Given the description of an element on the screen output the (x, y) to click on. 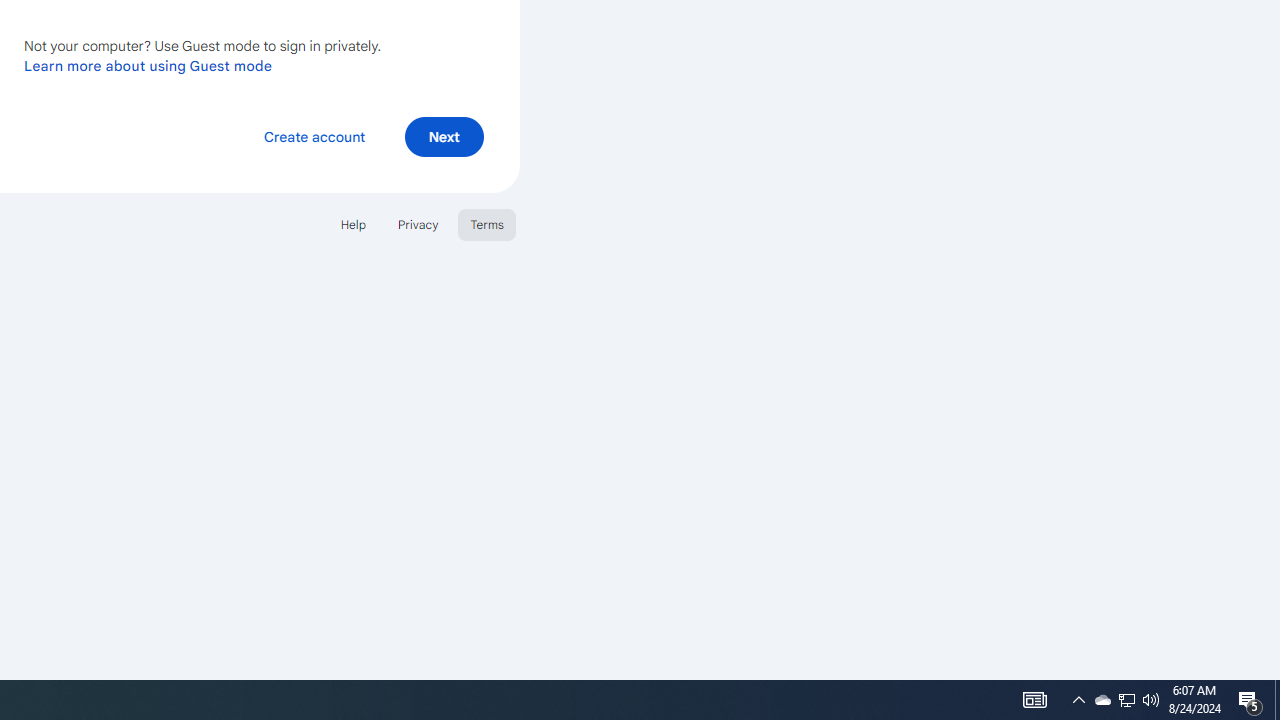
Next (443, 135)
Create account (314, 135)
Learn more about using Guest mode (148, 65)
